Given the description of an element on the screen output the (x, y) to click on. 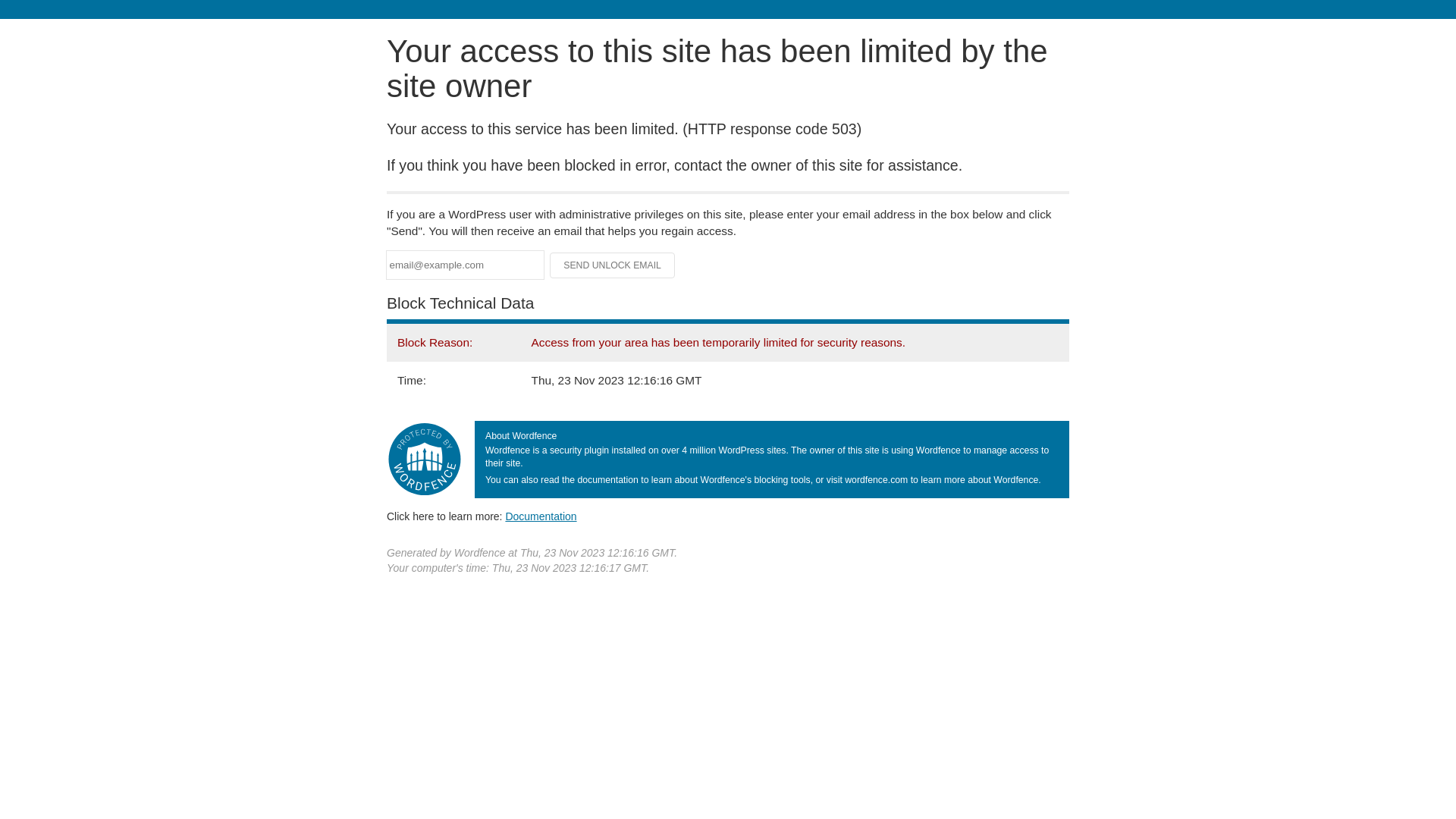
Send Unlock Email Element type: text (612, 265)
Documentation Element type: text (540, 516)
